Given the description of an element on the screen output the (x, y) to click on. 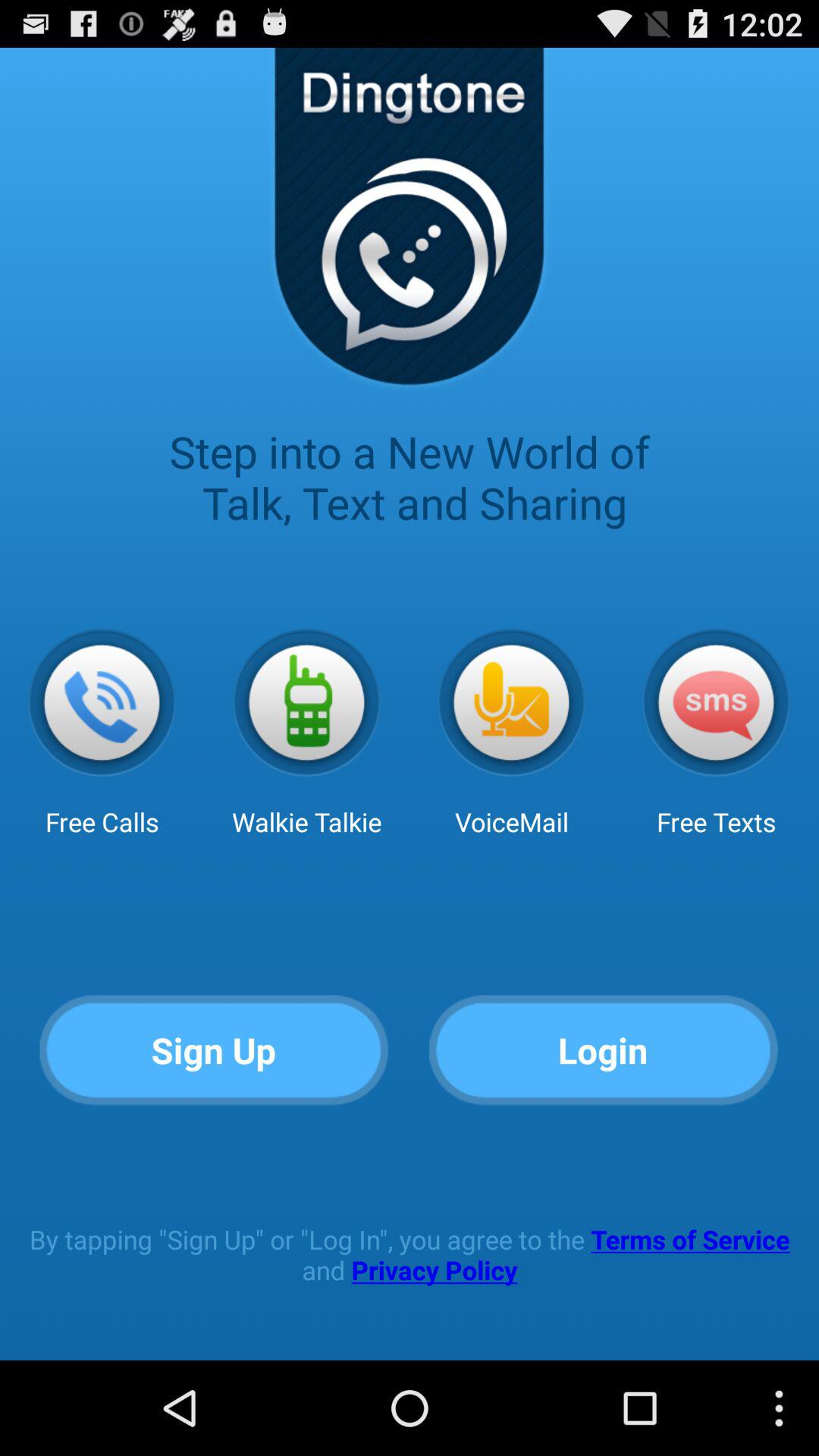
jump until the login icon (604, 1050)
